Given the description of an element on the screen output the (x, y) to click on. 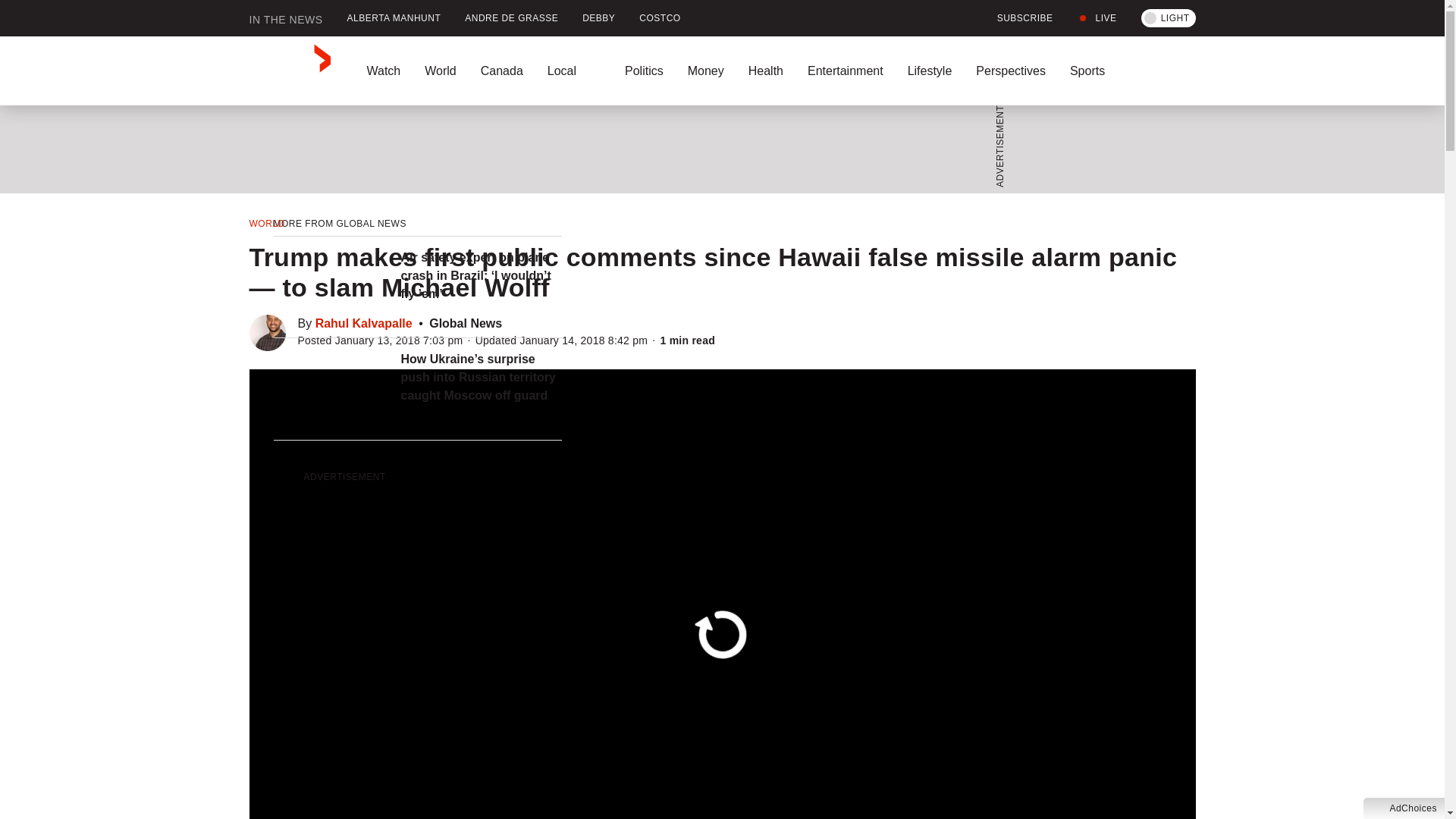
Posts by Rahul Kalvapalle (363, 323)
ALBERTA MANHUNT (393, 18)
COSTCO (660, 18)
Politics (643, 70)
SUBSCRIBE (1015, 18)
DEBBY (598, 18)
Perspectives (1010, 70)
GlobalNews home (289, 70)
ANDRE DE GRASSE (511, 18)
